Given the description of an element on the screen output the (x, y) to click on. 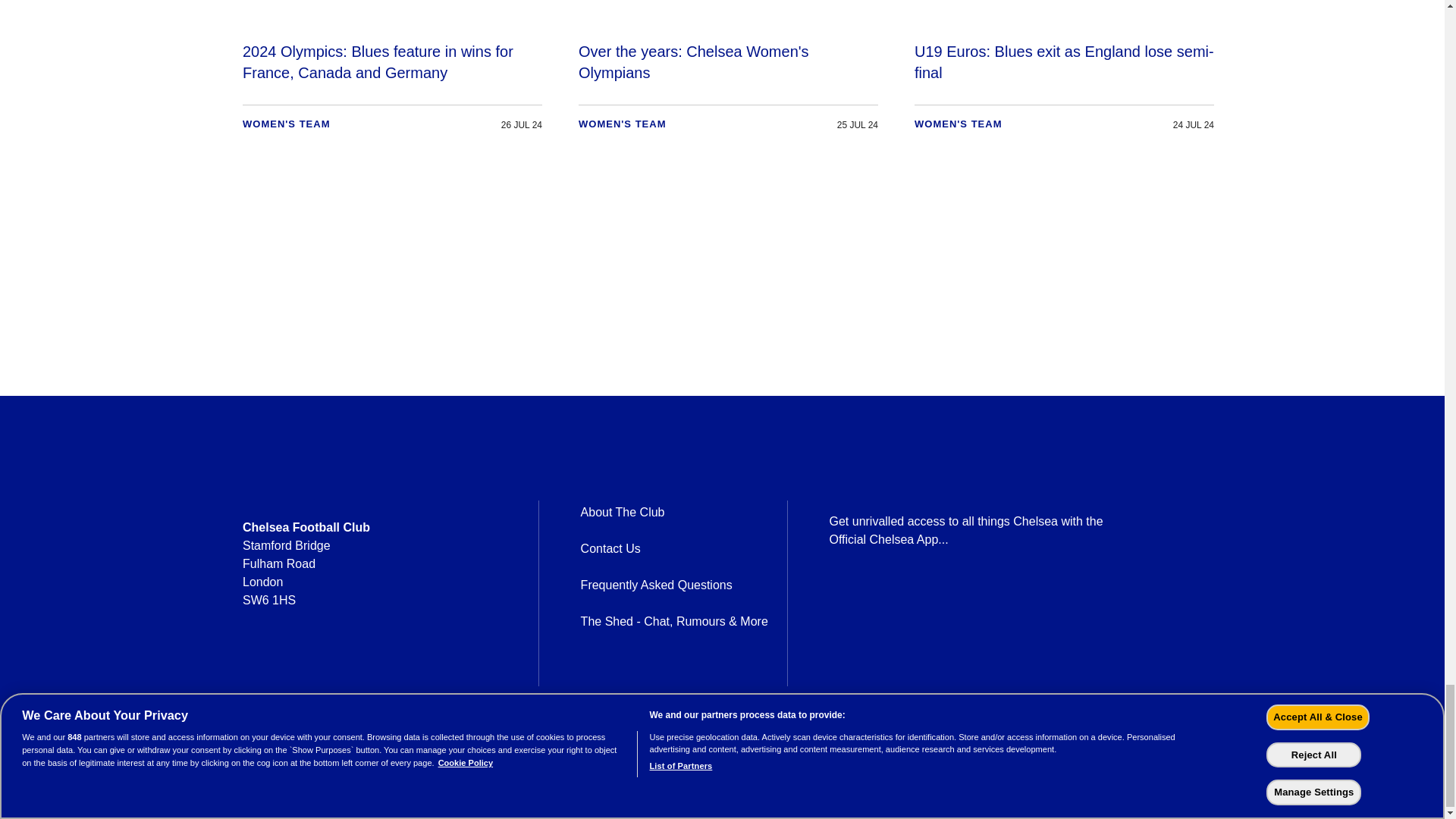
Over the years: Chelsea Women's Olympians (727, 71)
youtube (371, 675)
facebook (253, 675)
tiktok (410, 675)
U19 Euros: Blues exit as England lose semi-final (1064, 71)
instagram (331, 675)
twitter (292, 675)
